Given the description of an element on the screen output the (x, y) to click on. 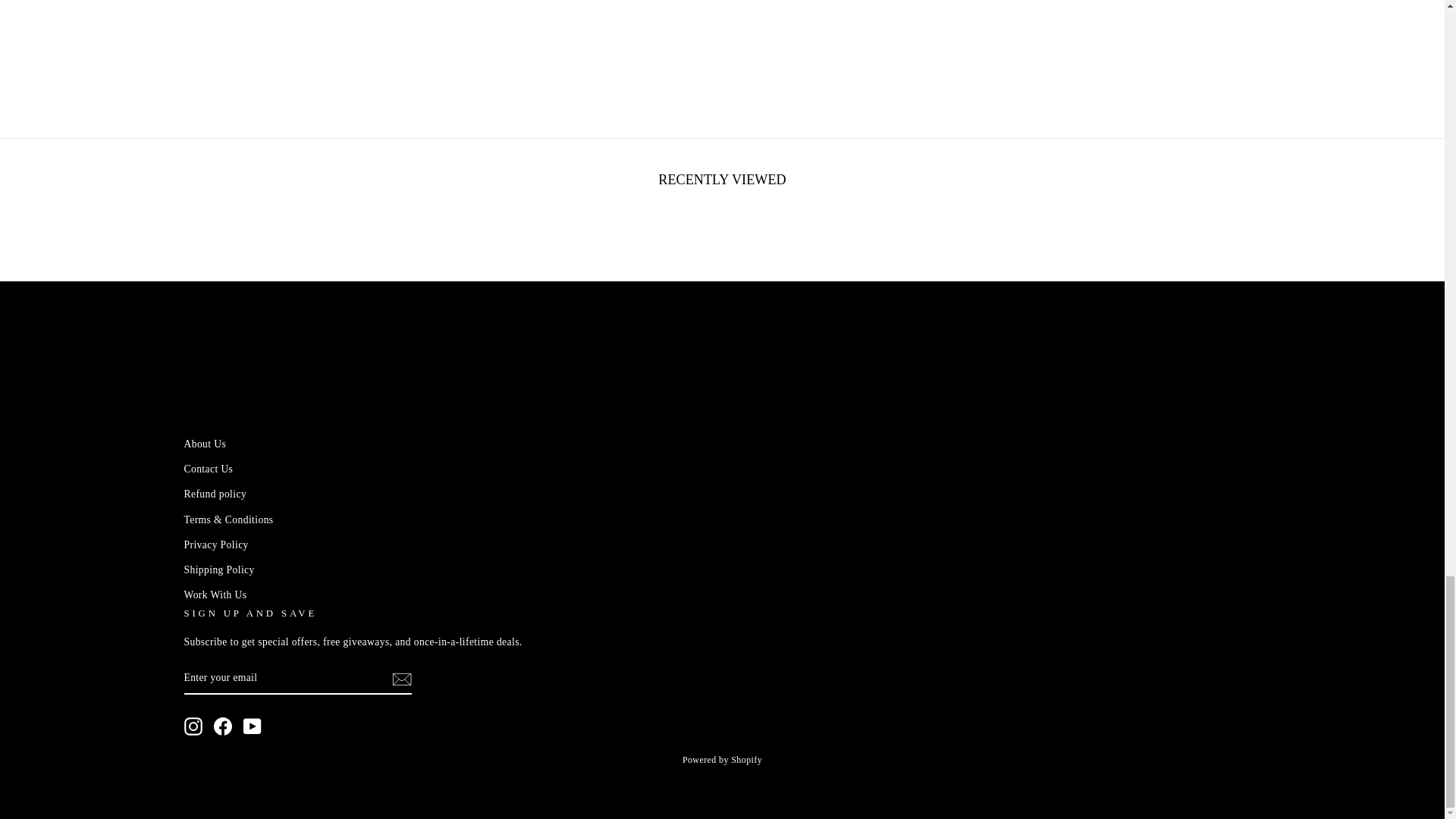
instagram (192, 726)
Bhasin Brothers on Instagram (192, 726)
icon-email (400, 679)
Bhasin Brothers on YouTube (251, 726)
Bhasin Brothers on Facebook (222, 726)
